Given the description of an element on the screen output the (x, y) to click on. 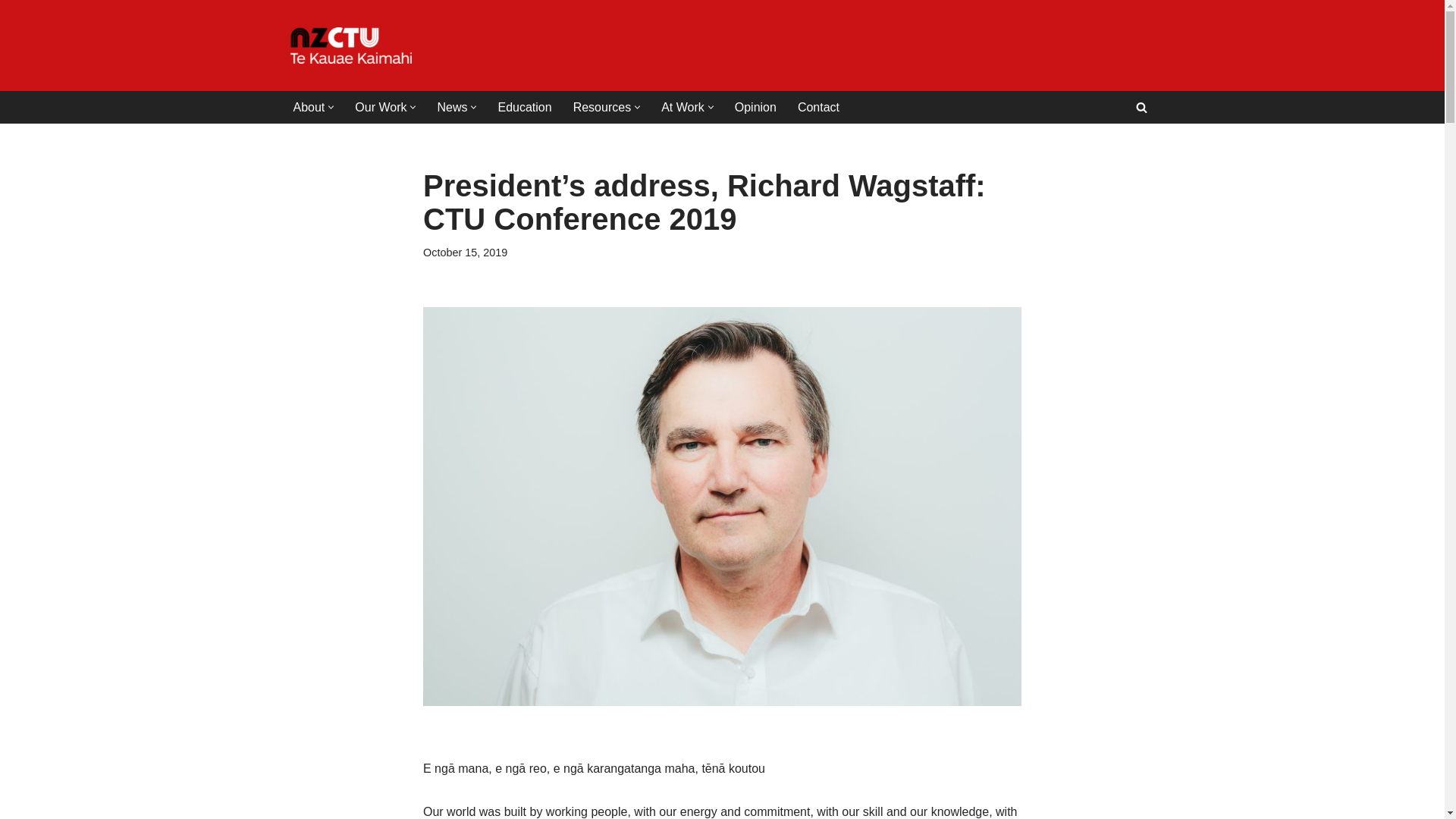
Our Work (380, 107)
Resources (601, 107)
Education (524, 107)
At Work (682, 107)
Skip to content (11, 31)
About (308, 107)
News (451, 107)
